Given the description of an element on the screen output the (x, y) to click on. 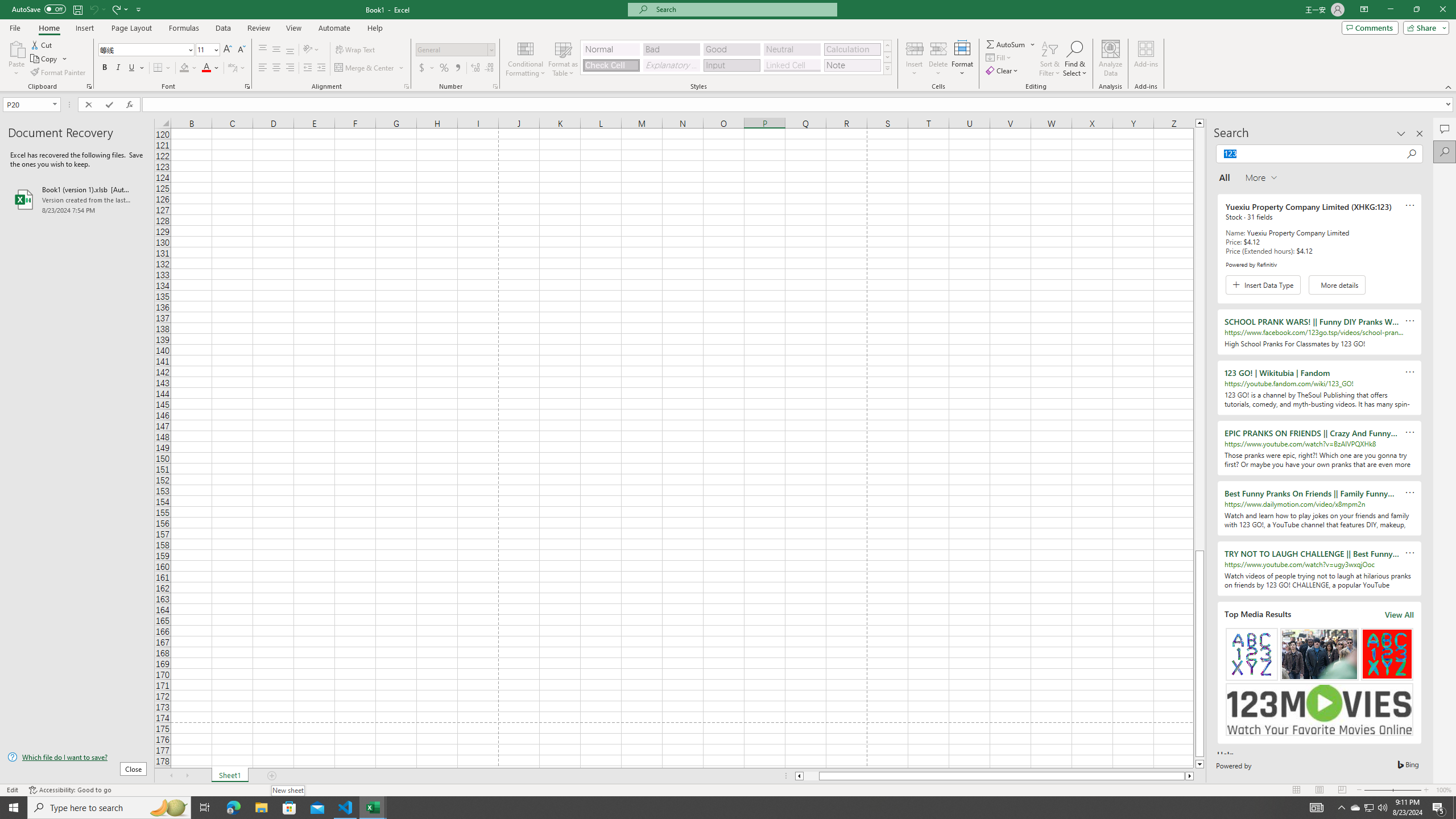
Merge & Center (369, 67)
Good (731, 49)
Format as Table (563, 58)
Find & Select (1075, 58)
Italic (118, 67)
Note (852, 65)
Underline (131, 67)
Delete (938, 58)
Increase Font Size (227, 49)
Sort & Filter (1049, 58)
